Given the description of an element on the screen output the (x, y) to click on. 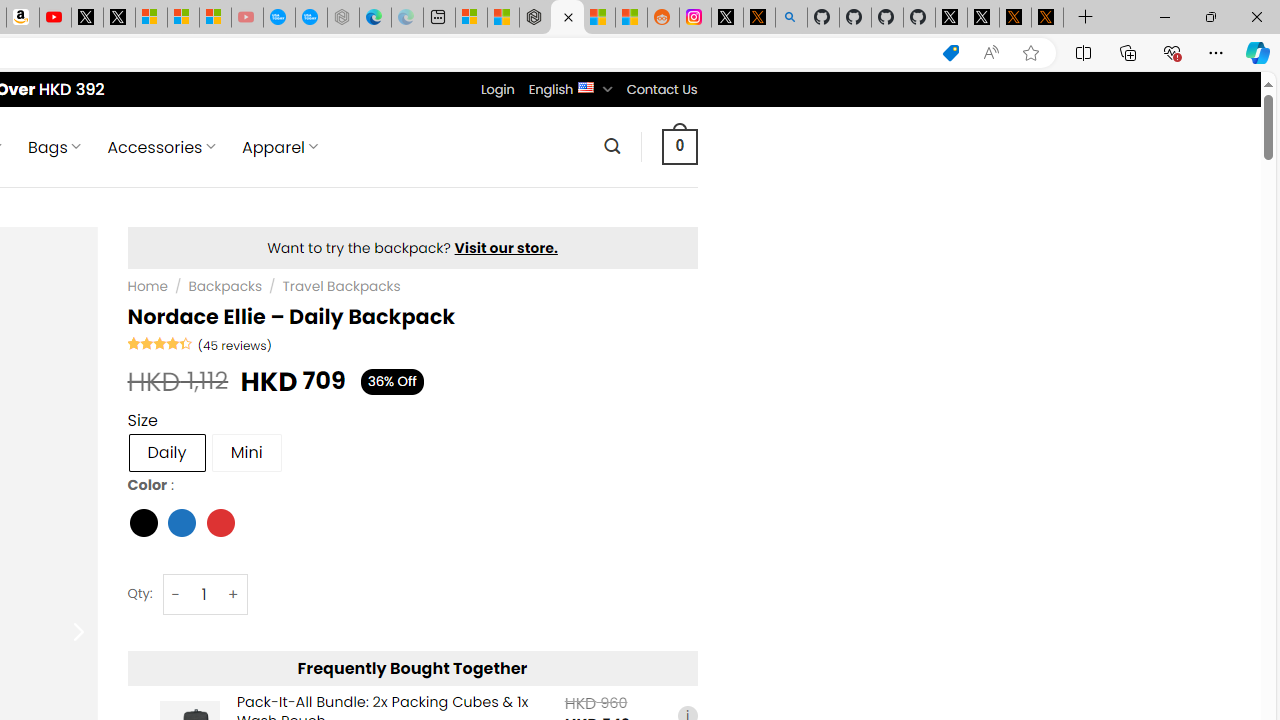
English (586, 86)
Travel Backpacks (340, 286)
